Given the description of an element on the screen output the (x, y) to click on. 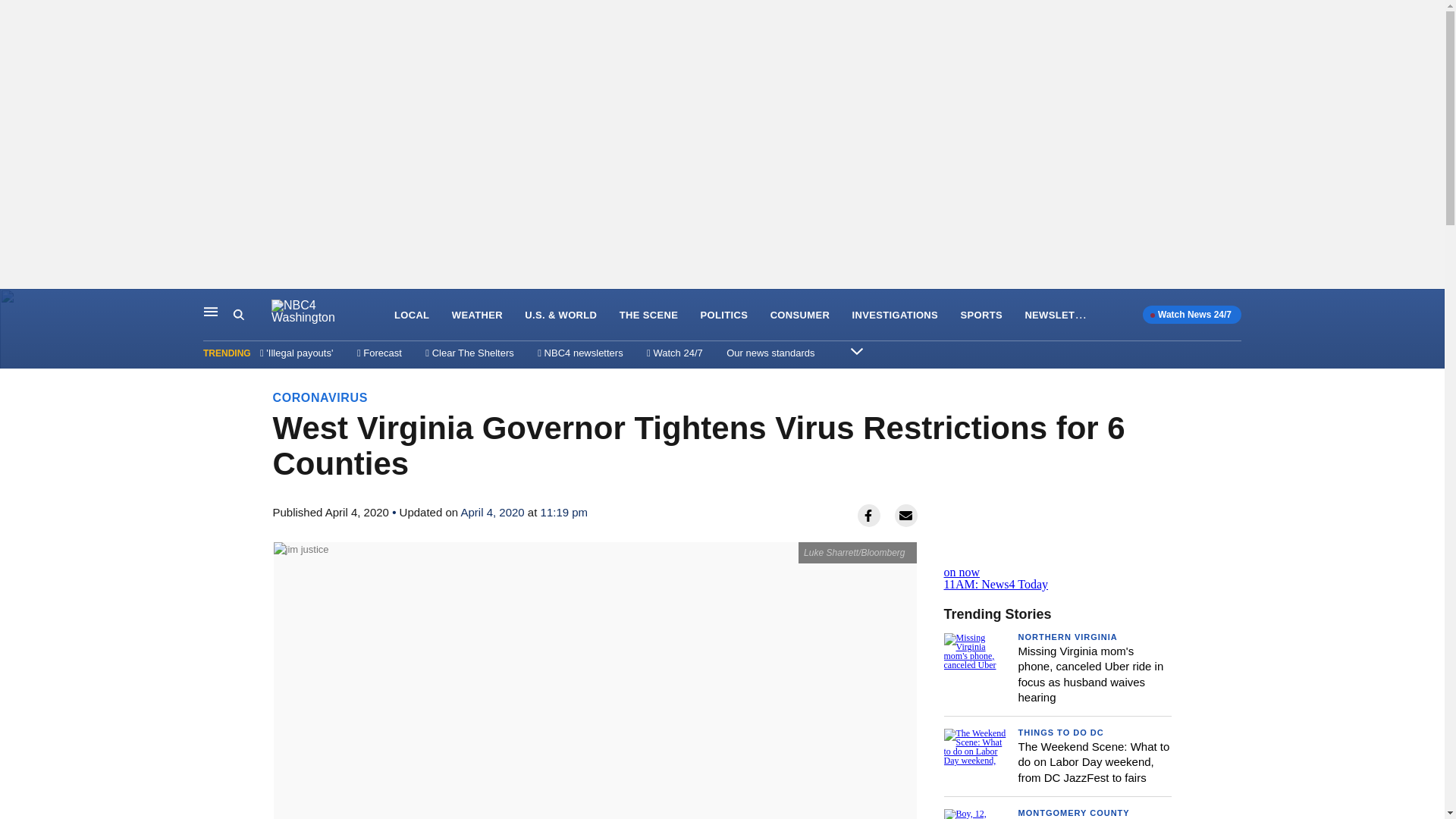
Search (252, 314)
Main Navigation (210, 311)
Expand (856, 350)
NEWSLETTERS (1063, 314)
POLITICS (724, 315)
CONSUMER (799, 315)
WEATHER (476, 315)
SPORTS (1056, 566)
